Given the description of an element on the screen output the (x, y) to click on. 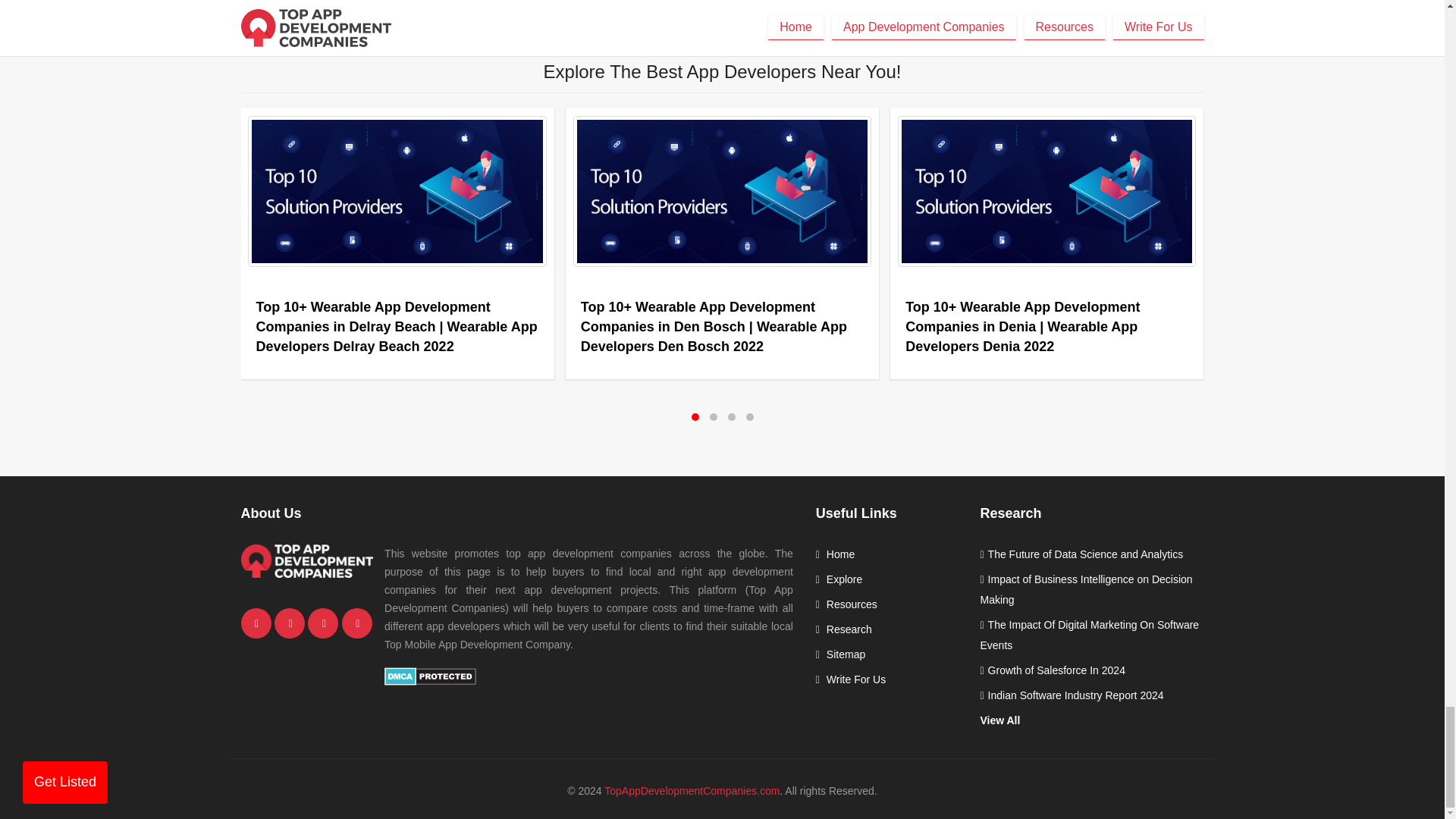
Wearable App development companies in delray-beach (396, 191)
Wearable App development companies in den-bosch (721, 191)
Wearable App development companies in denia (1046, 191)
